Given the description of an element on the screen output the (x, y) to click on. 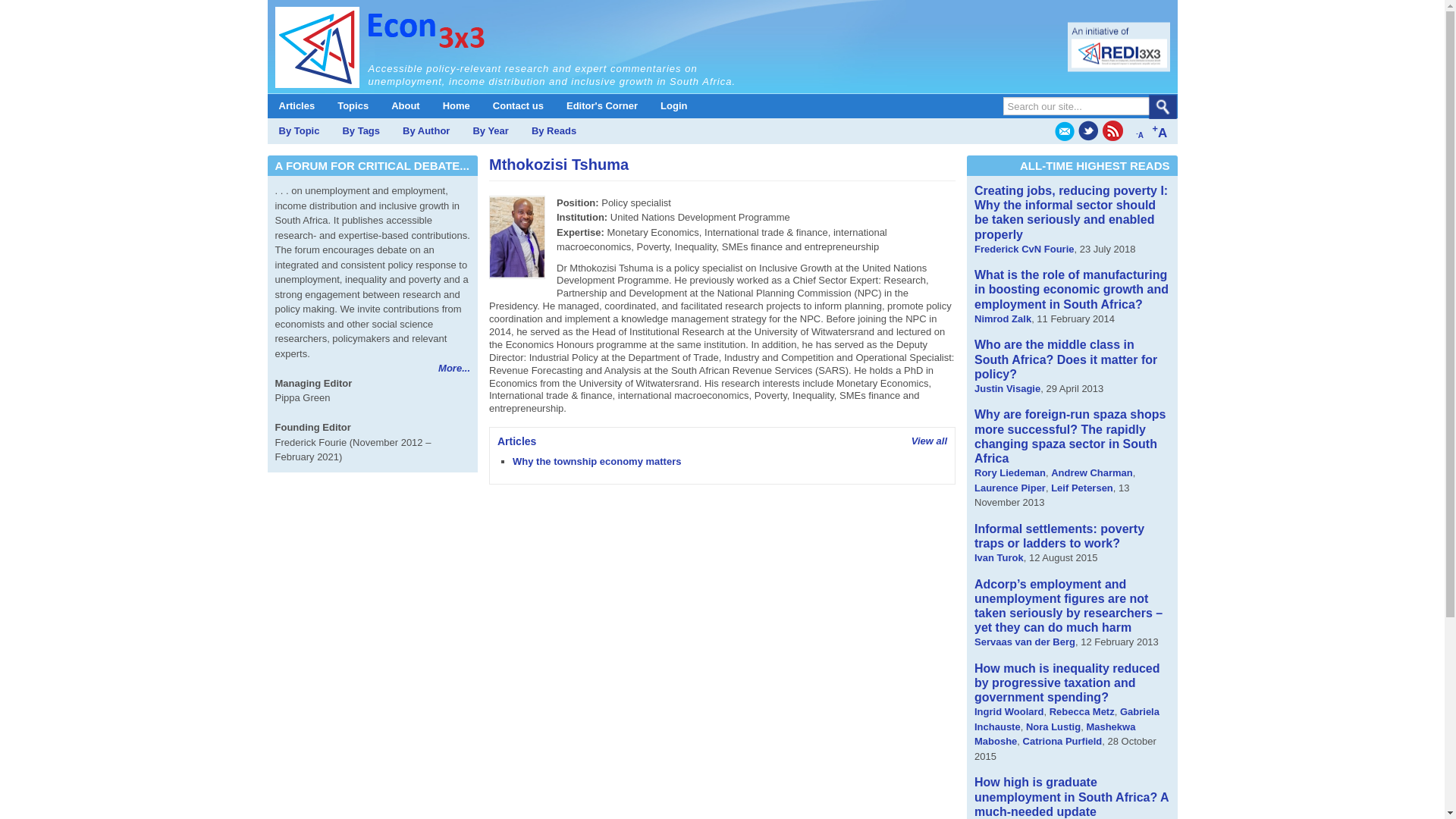
Subscribe for email notification (1064, 130)
Home (455, 105)
Contact us (517, 105)
Enter the terms you wish to search for. (1086, 106)
Mthokozisi Tshuma (516, 237)
-A (1139, 131)
About (405, 105)
By Year (490, 130)
Follow us on Twitter (1088, 130)
Login (673, 105)
Editor's Corner (601, 105)
By Topic (298, 130)
More... (454, 367)
By Author (426, 130)
